Given the description of an element on the screen output the (x, y) to click on. 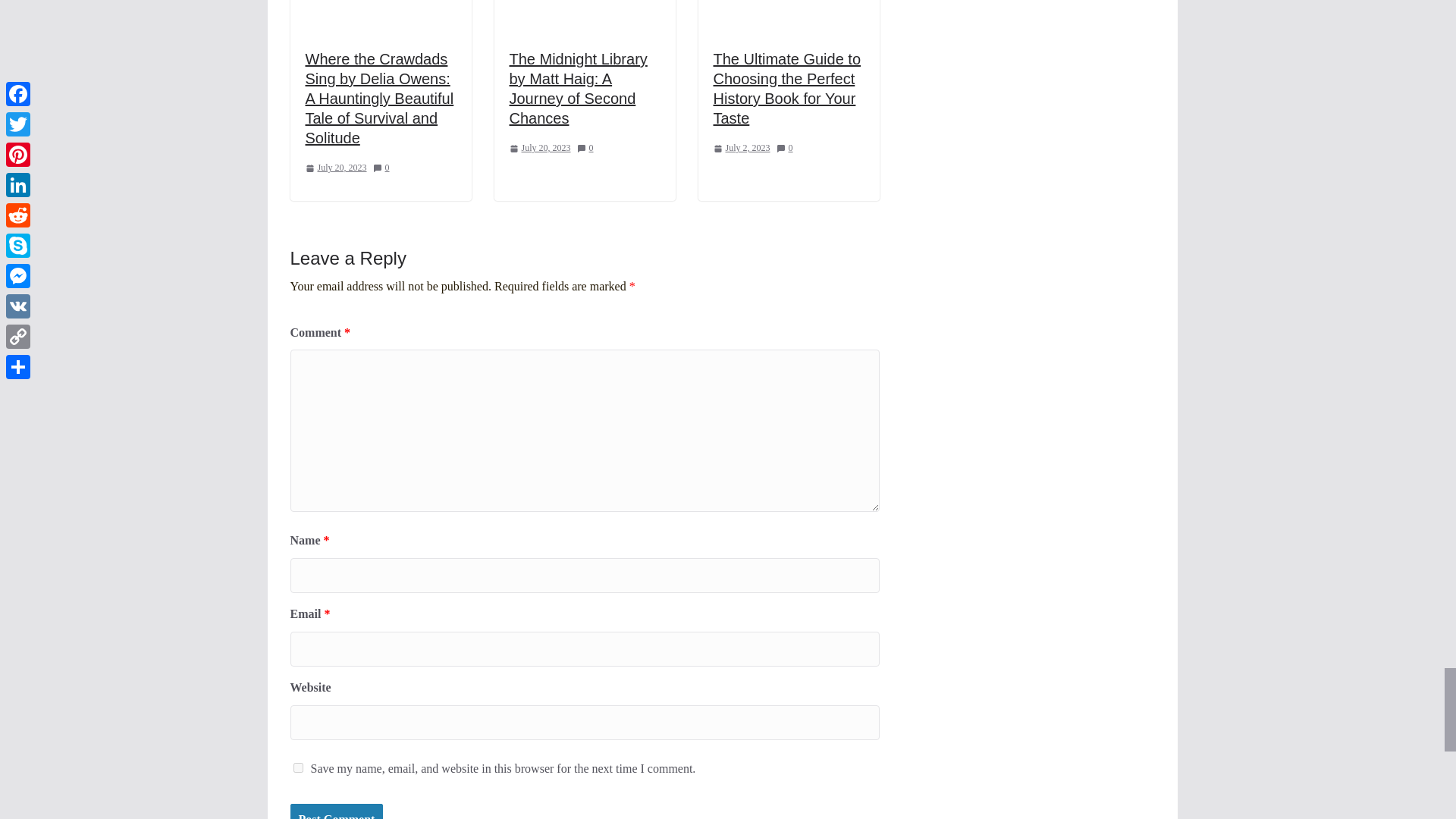
yes (297, 767)
Post Comment (335, 811)
